Given the description of an element on the screen output the (x, y) to click on. 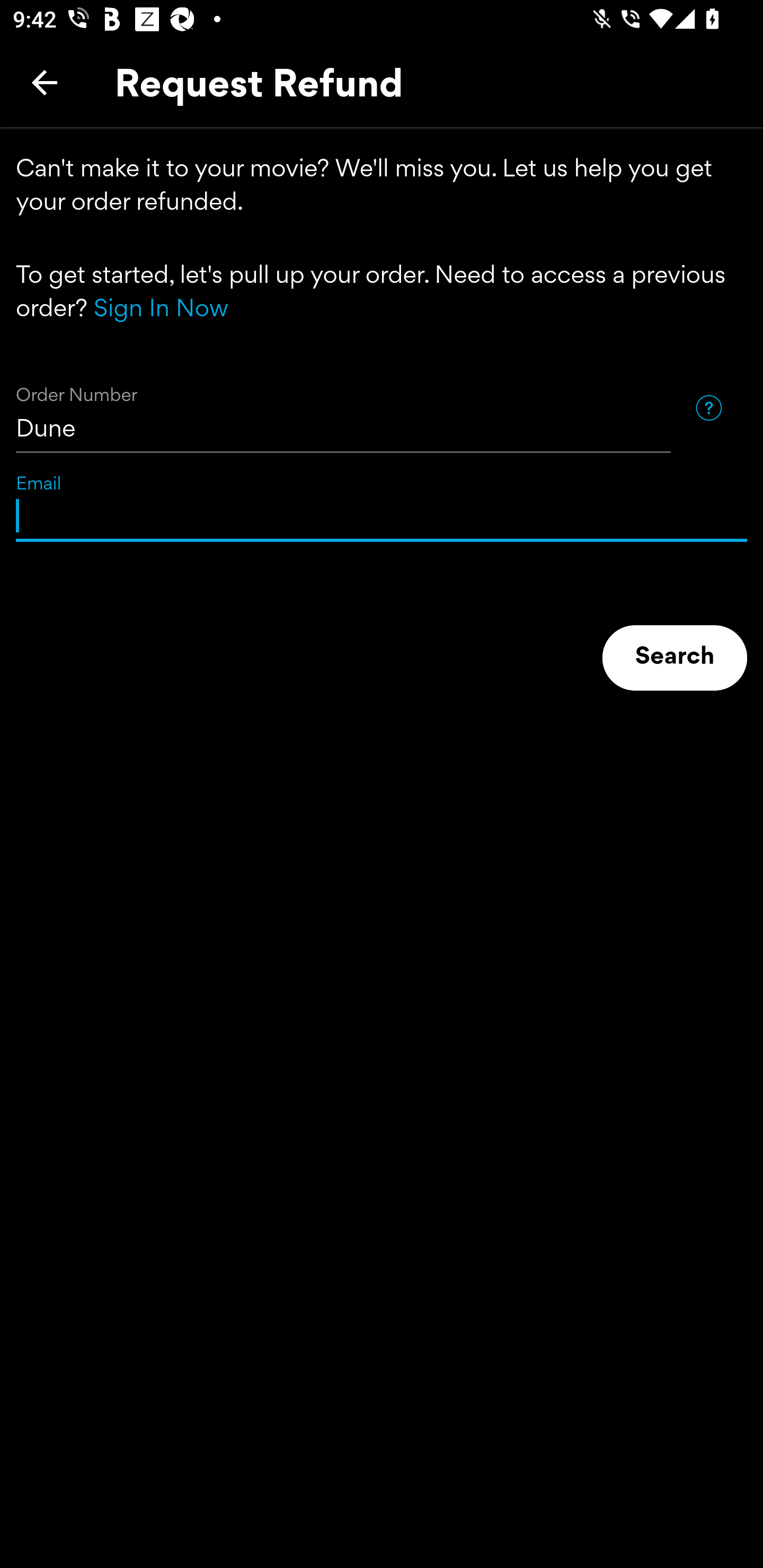
Back (44, 82)
Dune (343, 408)
Help (708, 407)
Search (674, 657)
